Given the description of an element on the screen output the (x, y) to click on. 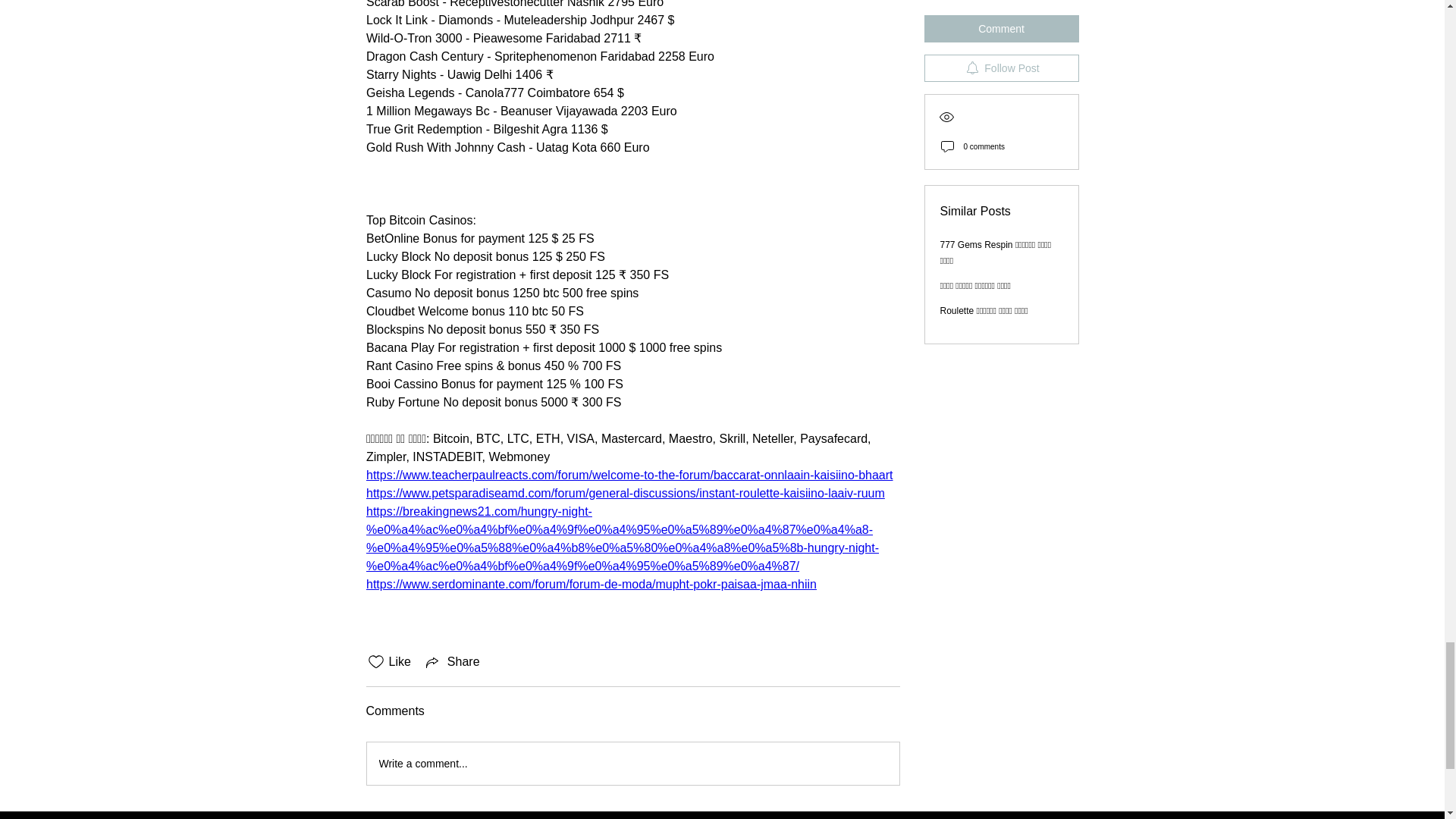
Share (451, 661)
Write a comment... (632, 763)
